Given the description of an element on the screen output the (x, y) to click on. 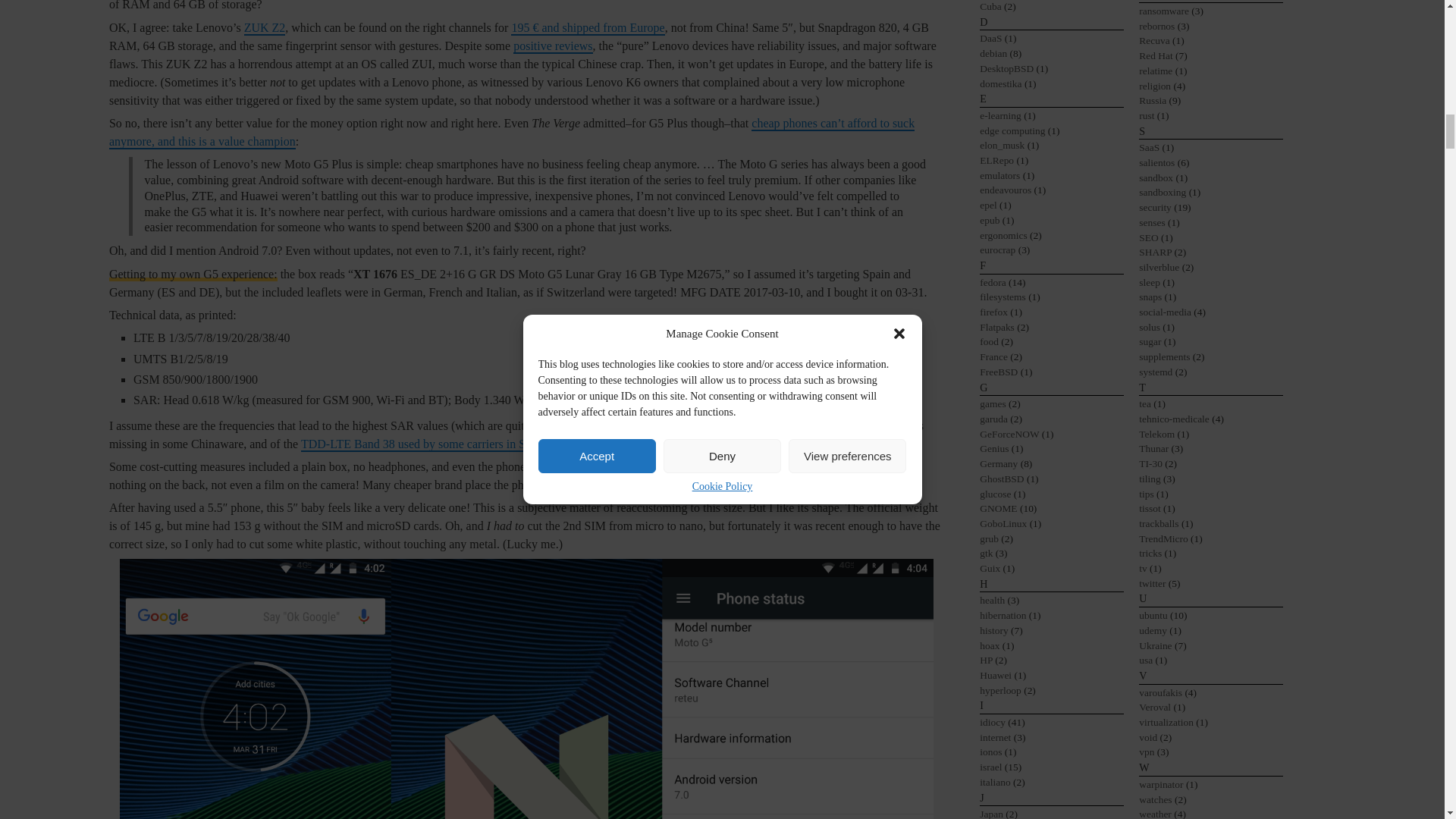
ZUK Z2 (264, 28)
